Given the description of an element on the screen output the (x, y) to click on. 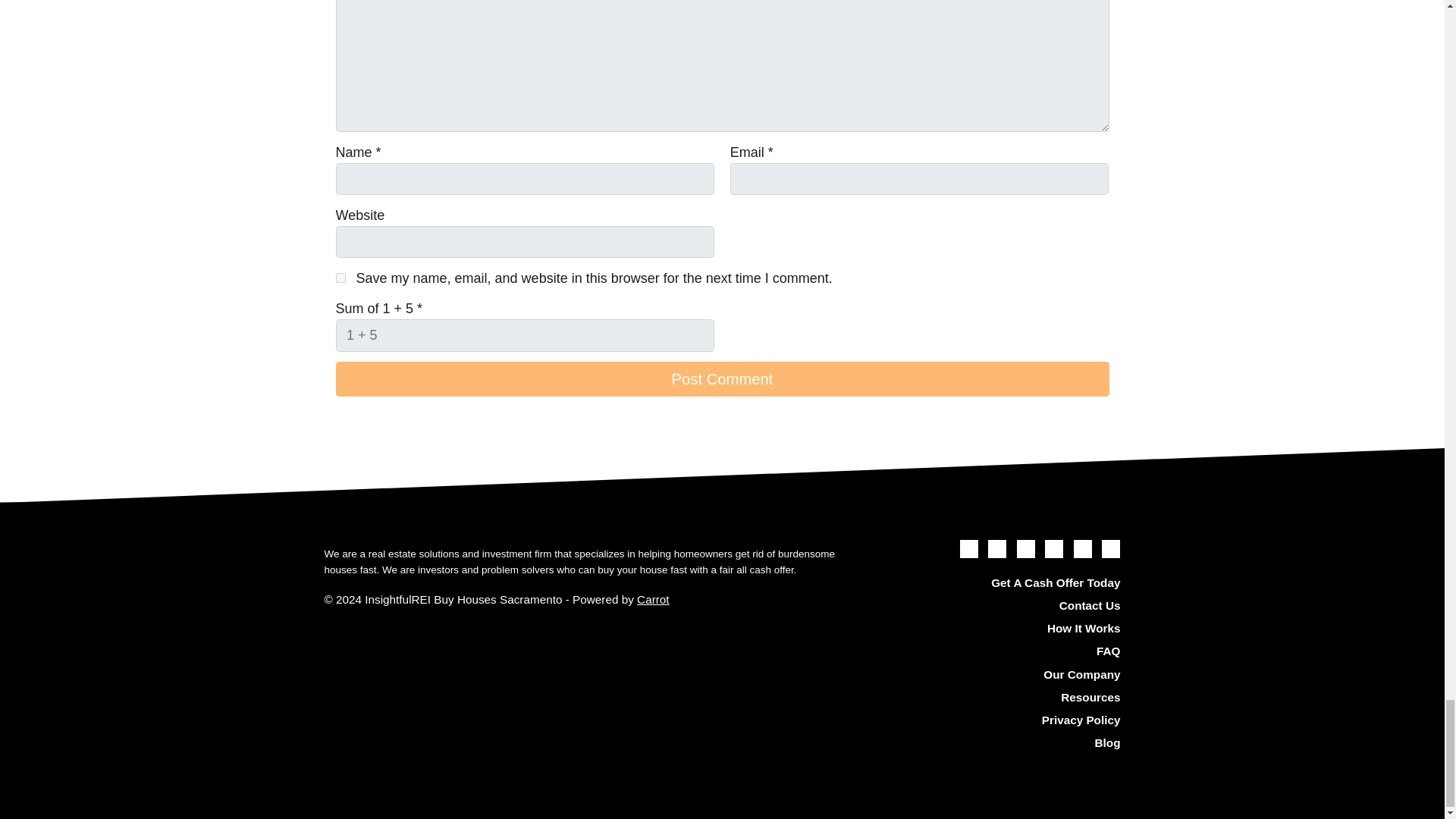
Post Comment (721, 378)
YouTube (1025, 548)
Facebook (997, 548)
yes (339, 277)
Post Comment (721, 378)
LinkedIn (1053, 548)
Twitter (968, 548)
